Given the description of an element on the screen output the (x, y) to click on. 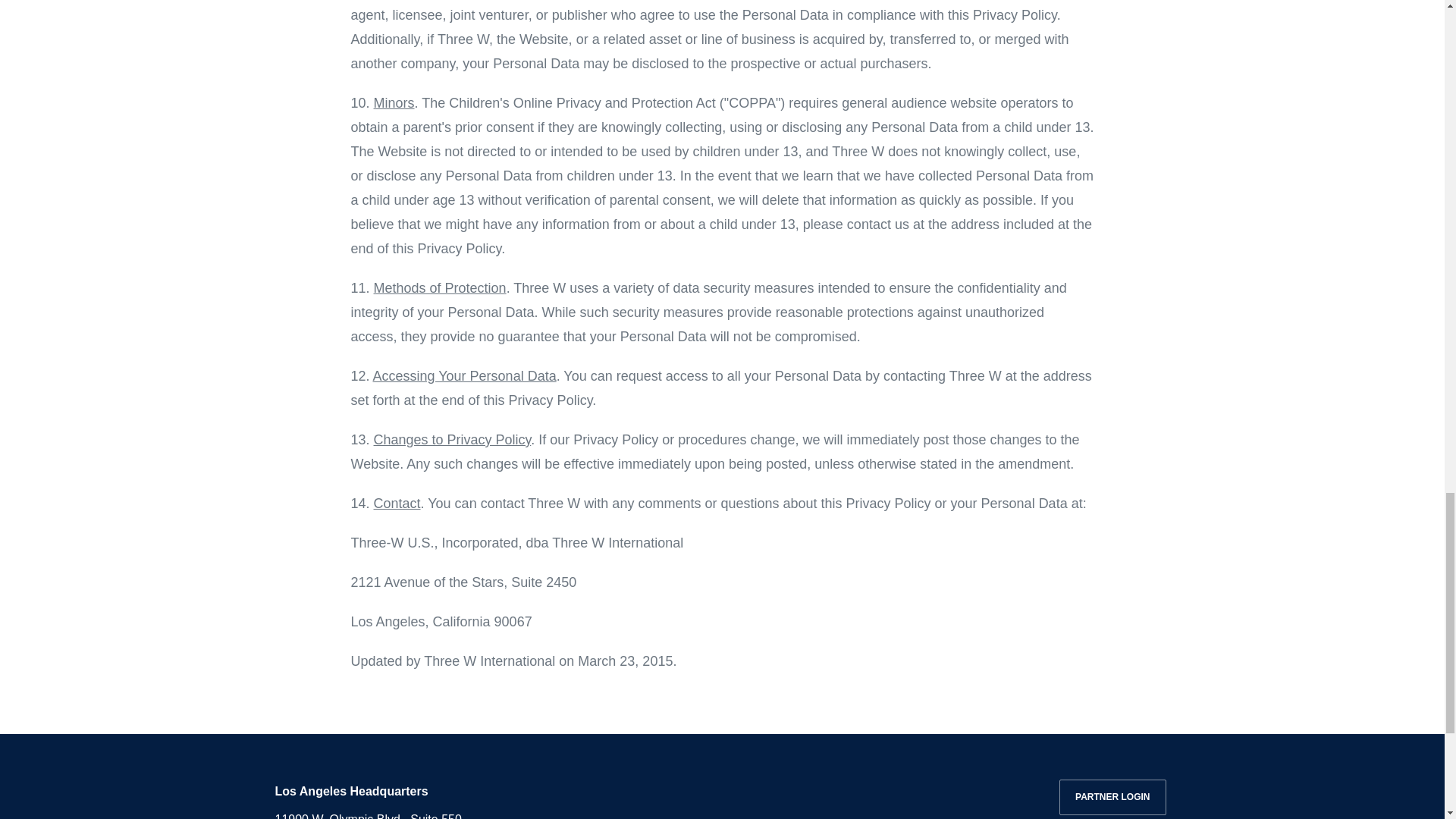
PARTNER LOGIN (1112, 796)
